Given the description of an element on the screen output the (x, y) to click on. 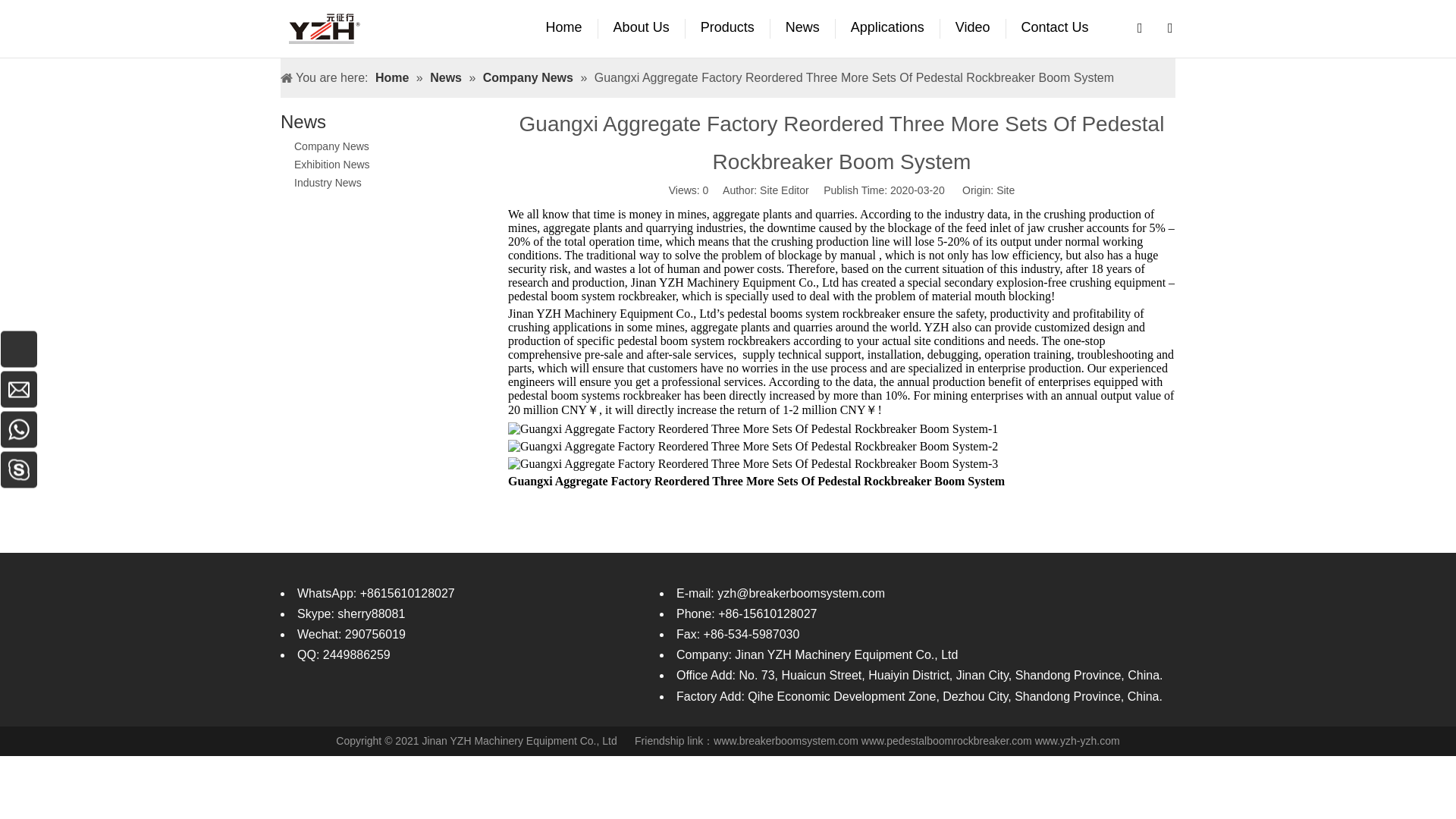
Twitter (340, 696)
News (802, 28)
About Us (641, 28)
Facebook (290, 696)
Youtube (367, 696)
Exhibition News (331, 164)
Industry News (327, 182)
Products (727, 28)
Pinterest (393, 696)
Linkedin (314, 696)
Applications (887, 28)
Company News (331, 146)
Home (564, 28)
